Given the description of an element on the screen output the (x, y) to click on. 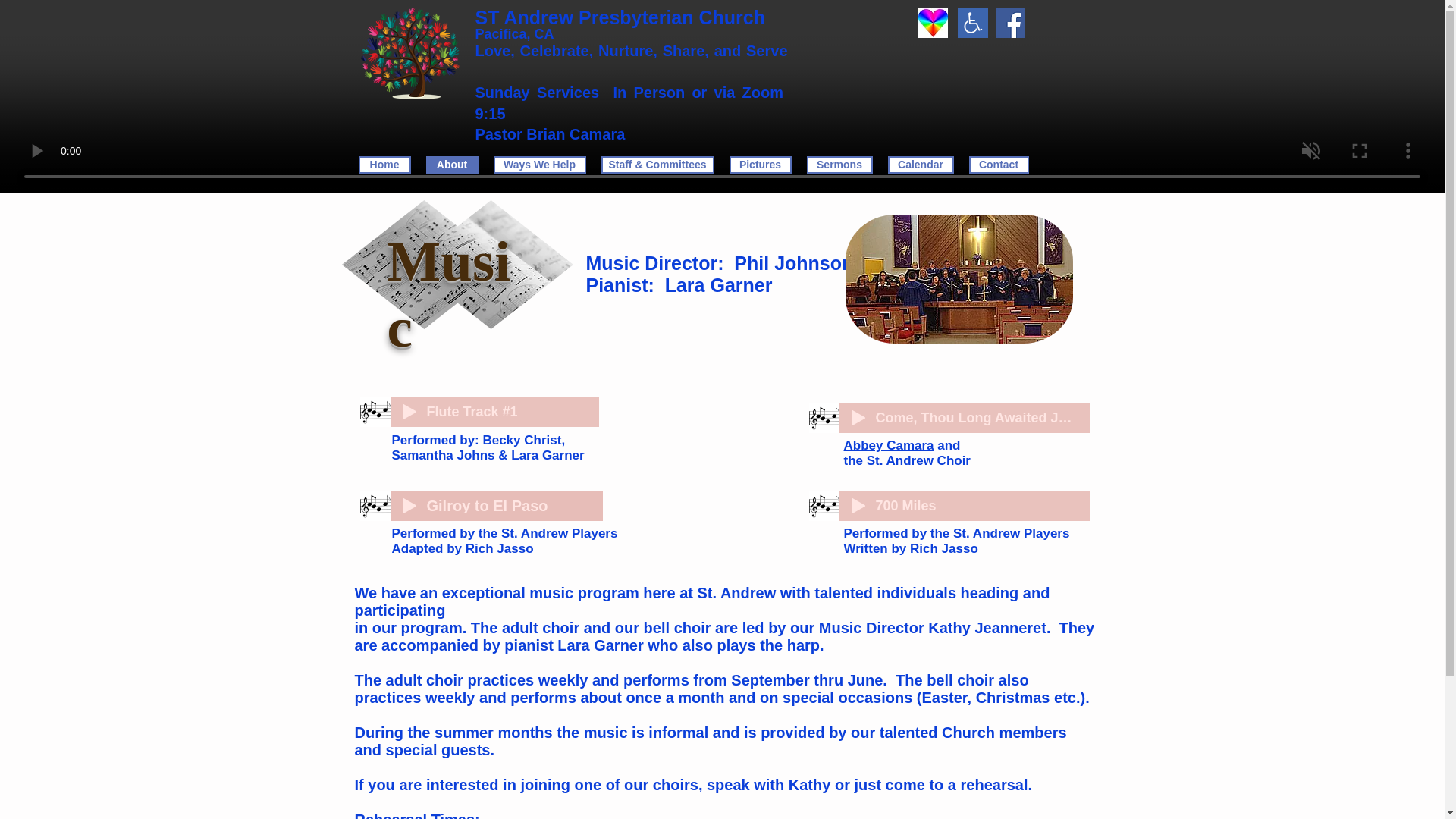
Sermons (839, 164)
Calendar (919, 164)
Home (384, 164)
About (452, 164)
